Given the description of an element on the screen output the (x, y) to click on. 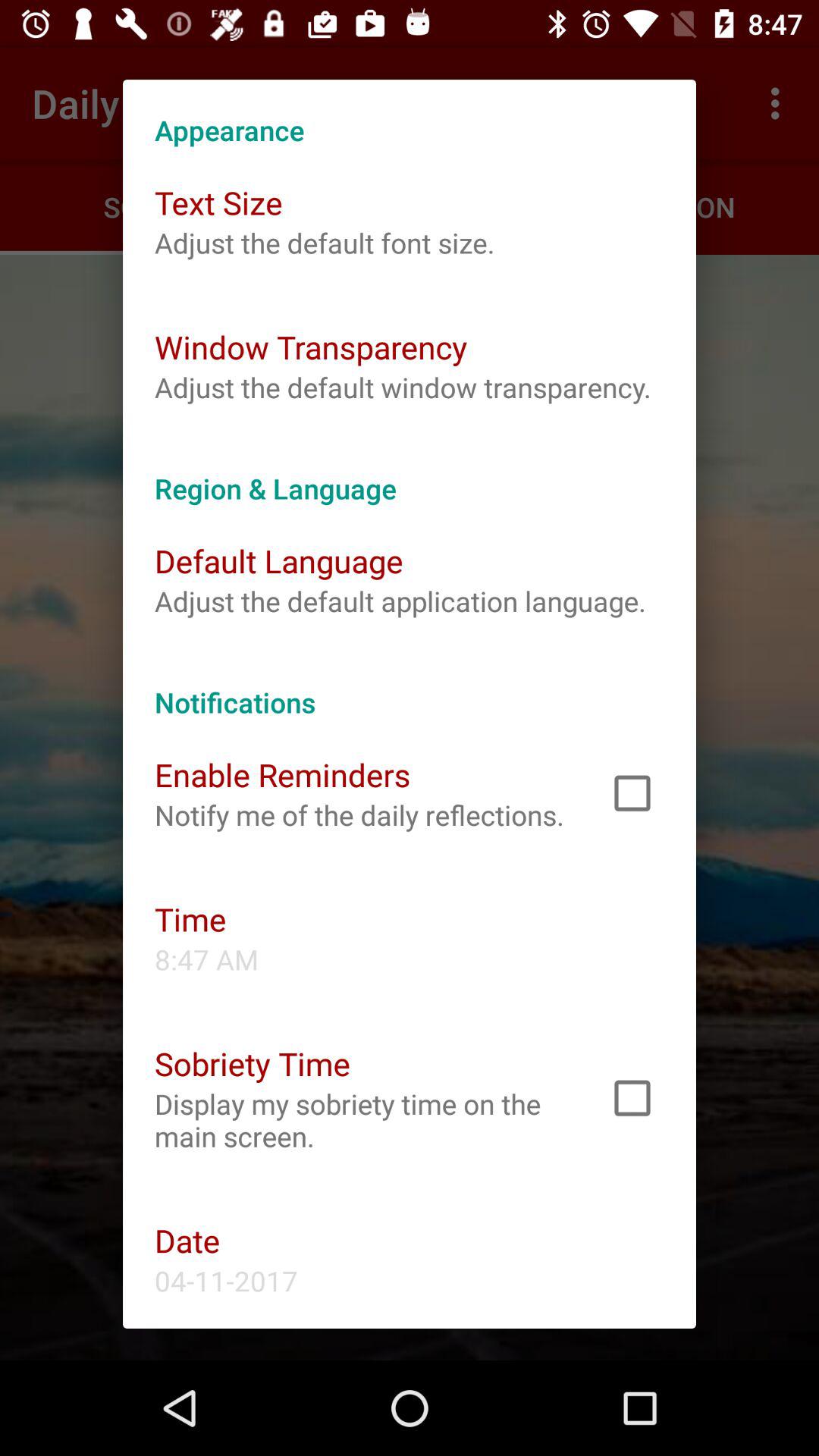
choose the display my sobriety (361, 1120)
